Given the description of an element on the screen output the (x, y) to click on. 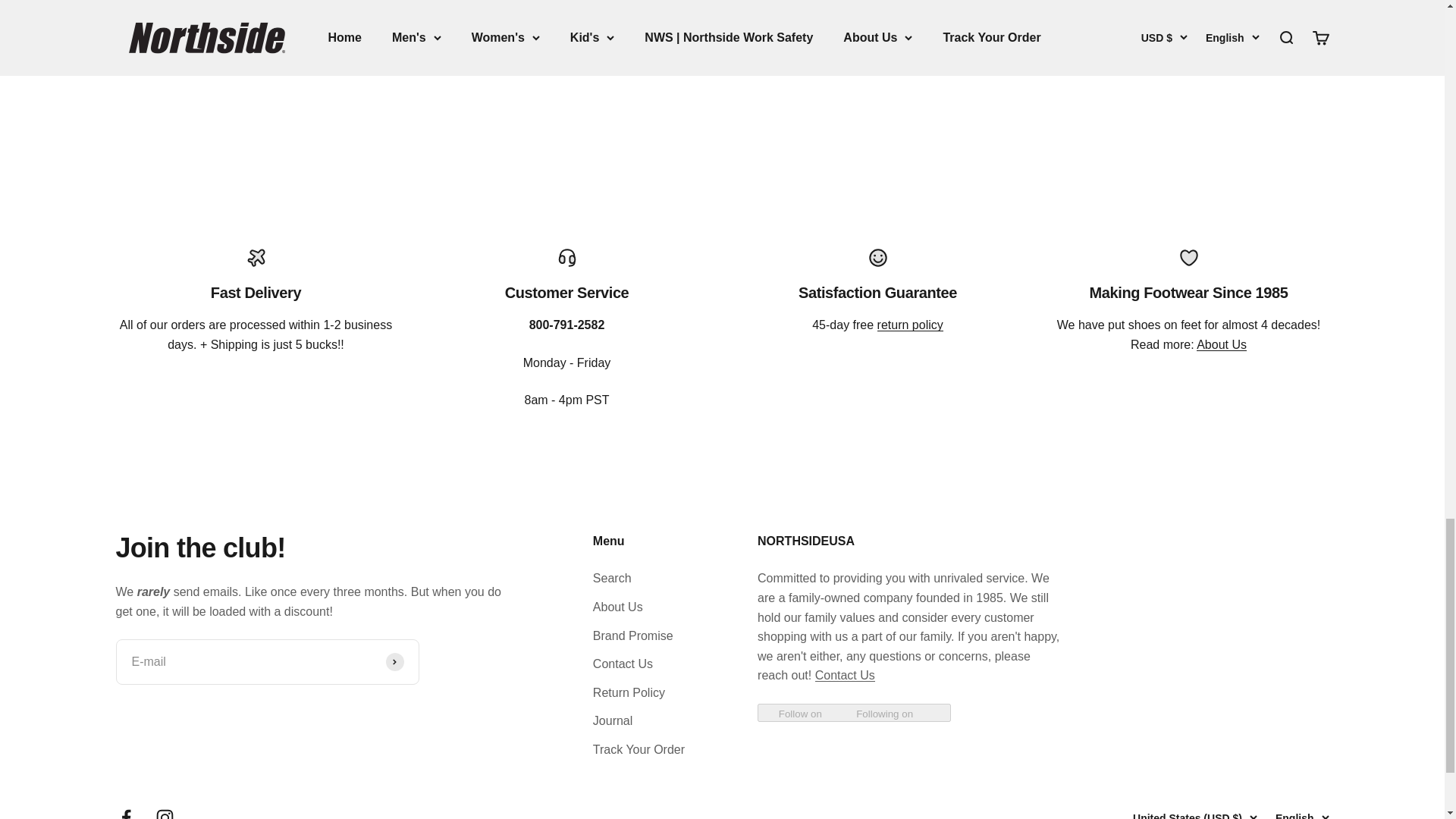
Refund Policy (721, 15)
About Us (910, 324)
Contact Us (721, 15)
